Given the description of an element on the screen output the (x, y) to click on. 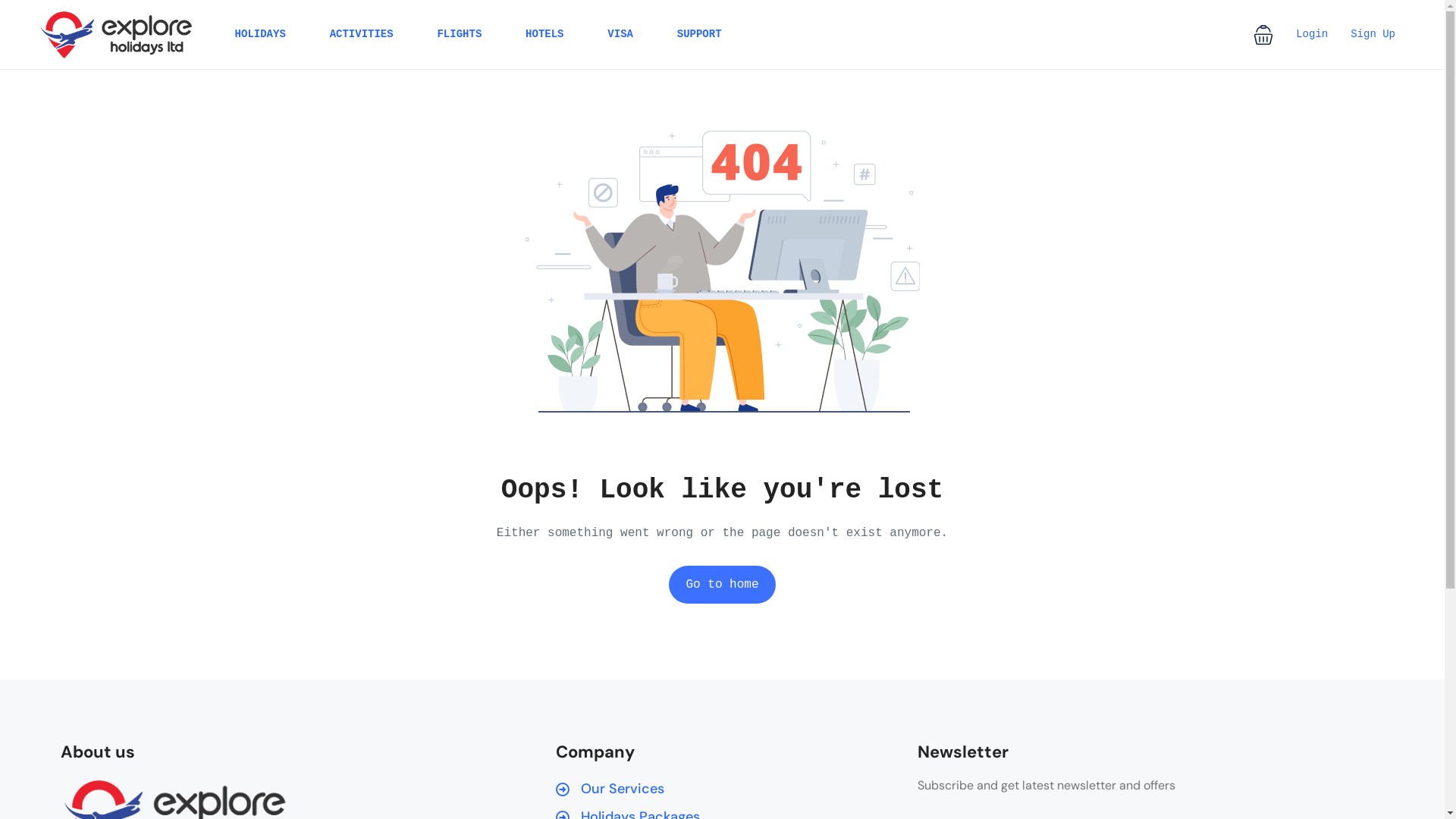
HOTELS Element type: text (544, 34)
Login Element type: text (1311, 34)
ACTIVITIES Element type: text (361, 34)
VISA Element type: text (620, 34)
Go to home Element type: text (721, 584)
SUPPORT Element type: text (699, 34)
Our Services Element type: text (715, 788)
HOLIDAYS Element type: text (260, 34)
FLIGHTS Element type: text (458, 34)
Sign Up Element type: text (1372, 34)
